Given the description of an element on the screen output the (x, y) to click on. 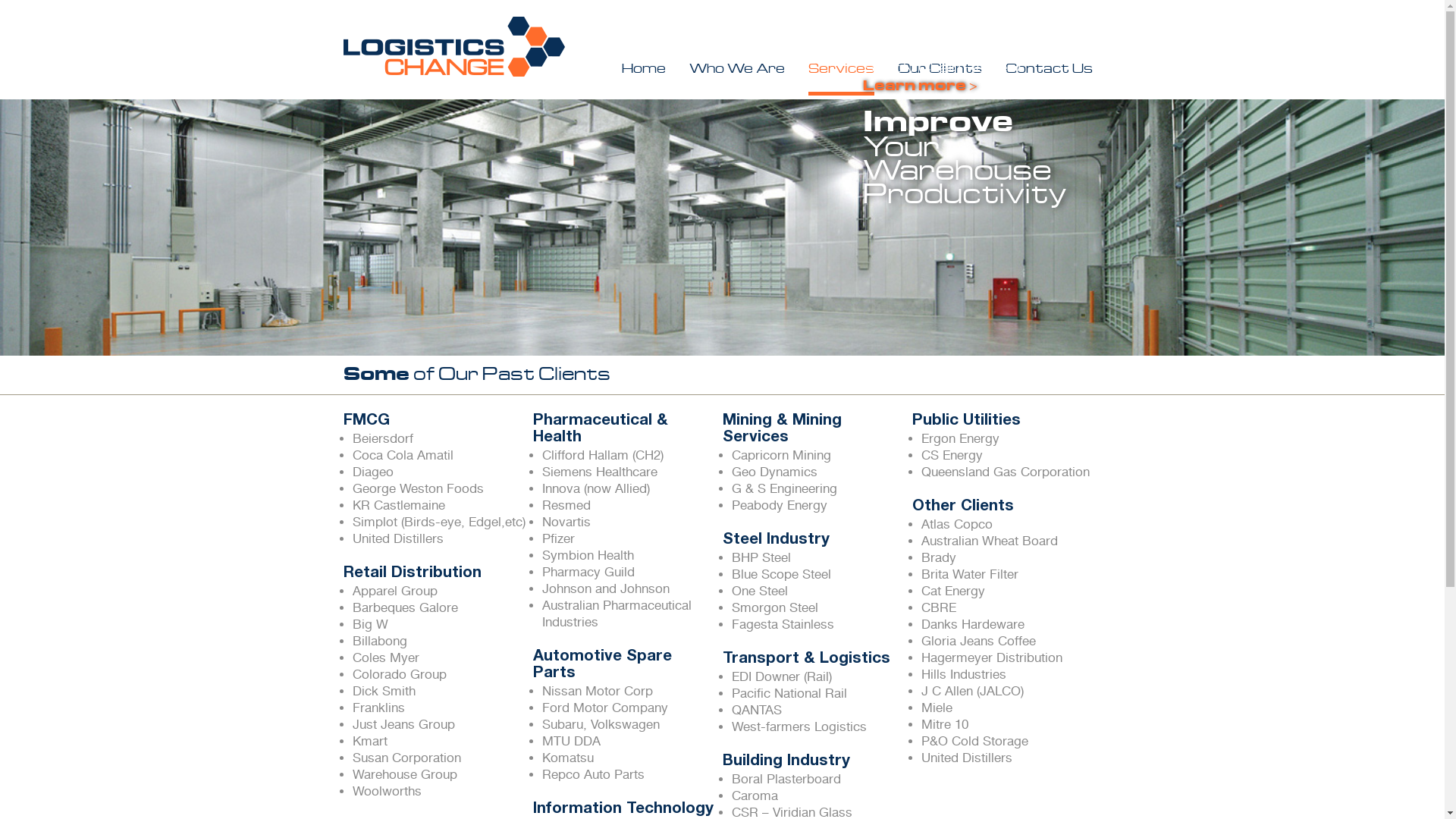
Contact Us Element type: text (1048, 70)
Learn more > Element type: text (919, 86)
Who We Are Element type: text (736, 70)
Our Clients Element type: text (939, 70)
Home Element type: text (643, 70)
Services Element type: text (841, 70)
